Given the description of an element on the screen output the (x, y) to click on. 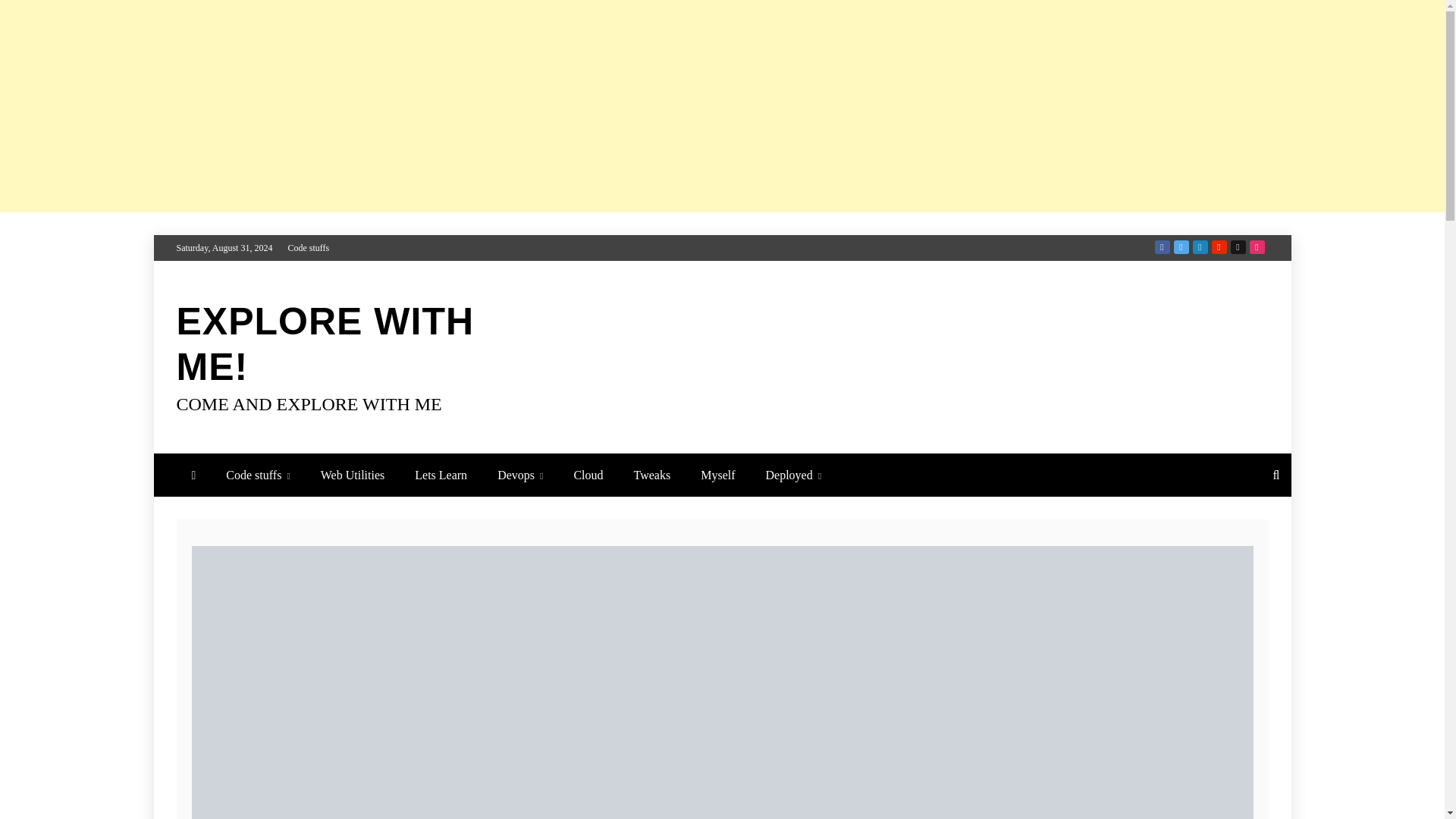
Code stuffs (307, 247)
Cloud (587, 474)
Twitter (1181, 246)
Web Utilities (351, 474)
Youtube (1219, 246)
EXPLORE WITH ME! (325, 344)
Facebook (1161, 246)
Linkedin (1199, 246)
Instagram (1257, 246)
